Given the description of an element on the screen output the (x, y) to click on. 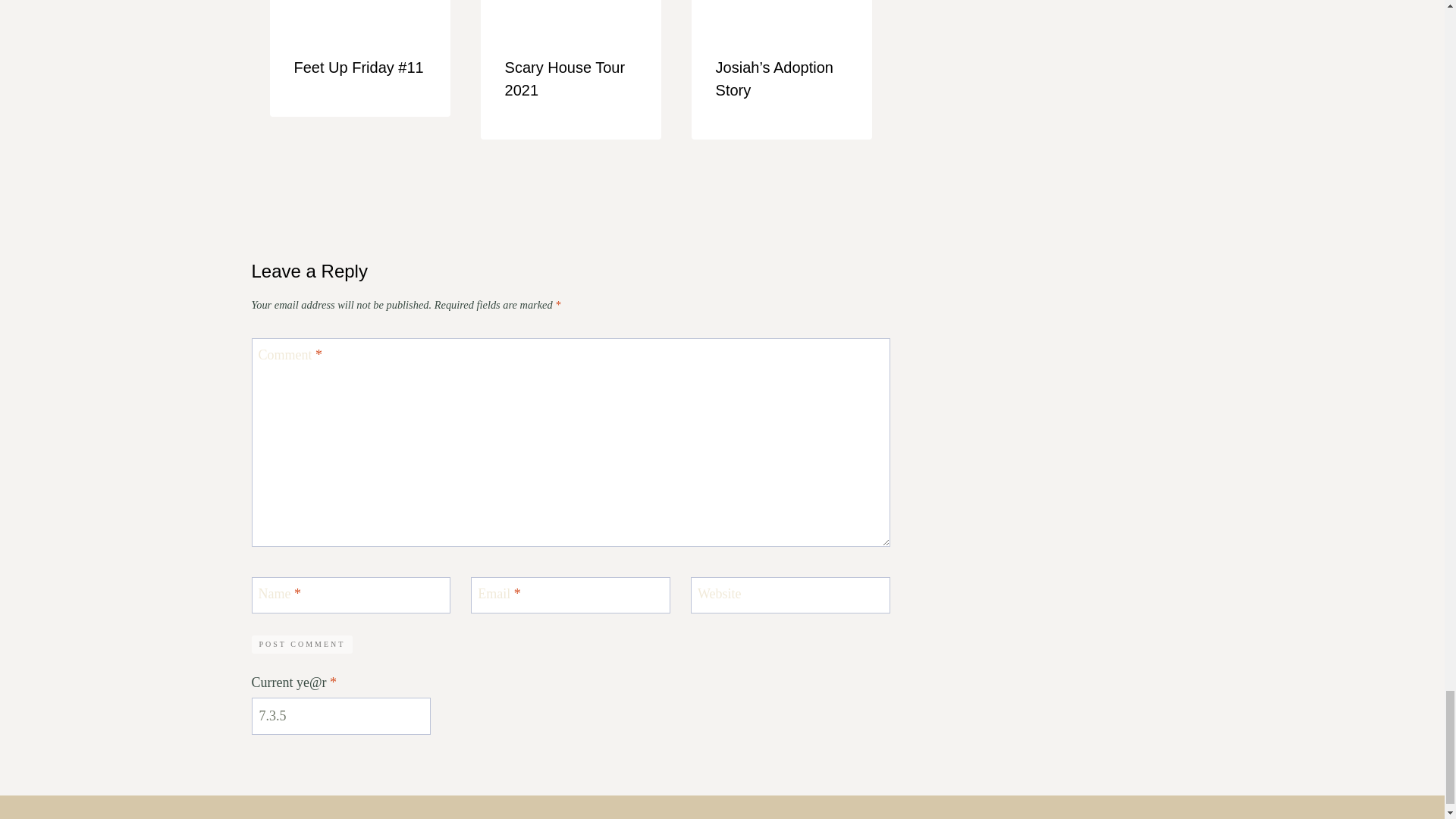
7.3.5 (340, 715)
Post Comment (302, 644)
